Given the description of an element on the screen output the (x, y) to click on. 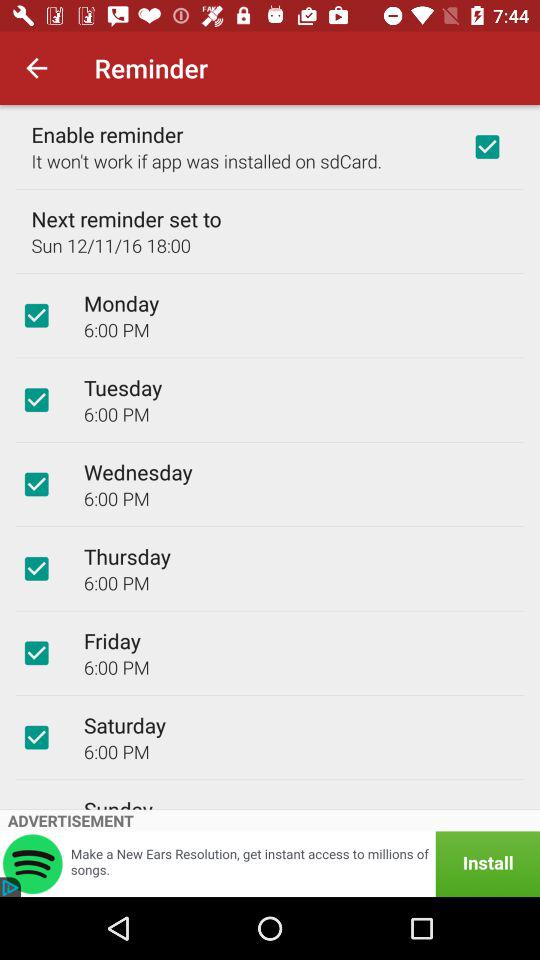
select icon at the top right corner (487, 146)
